Given the description of an element on the screen output the (x, y) to click on. 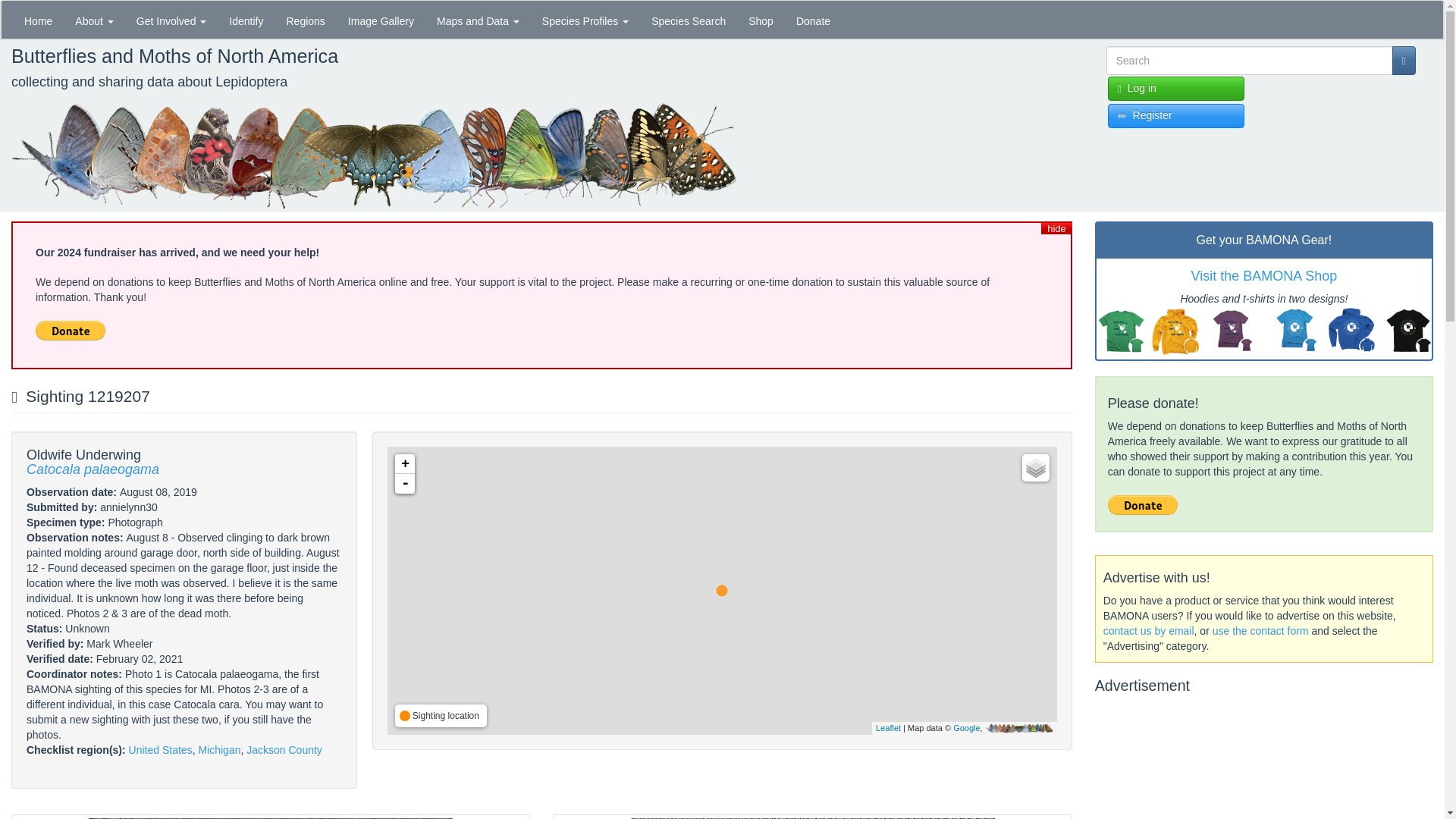
Image Gallery (380, 19)
About (93, 19)
Maps and Data (478, 19)
Regions (305, 19)
Get Involved (171, 19)
  Register (1176, 115)
  Log in (1176, 88)
Species Search (688, 19)
Shop (760, 19)
Search (1115, 81)
Identify (245, 19)
Home (38, 19)
Species Profiles (585, 19)
Donate (812, 19)
